Given the description of an element on the screen output the (x, y) to click on. 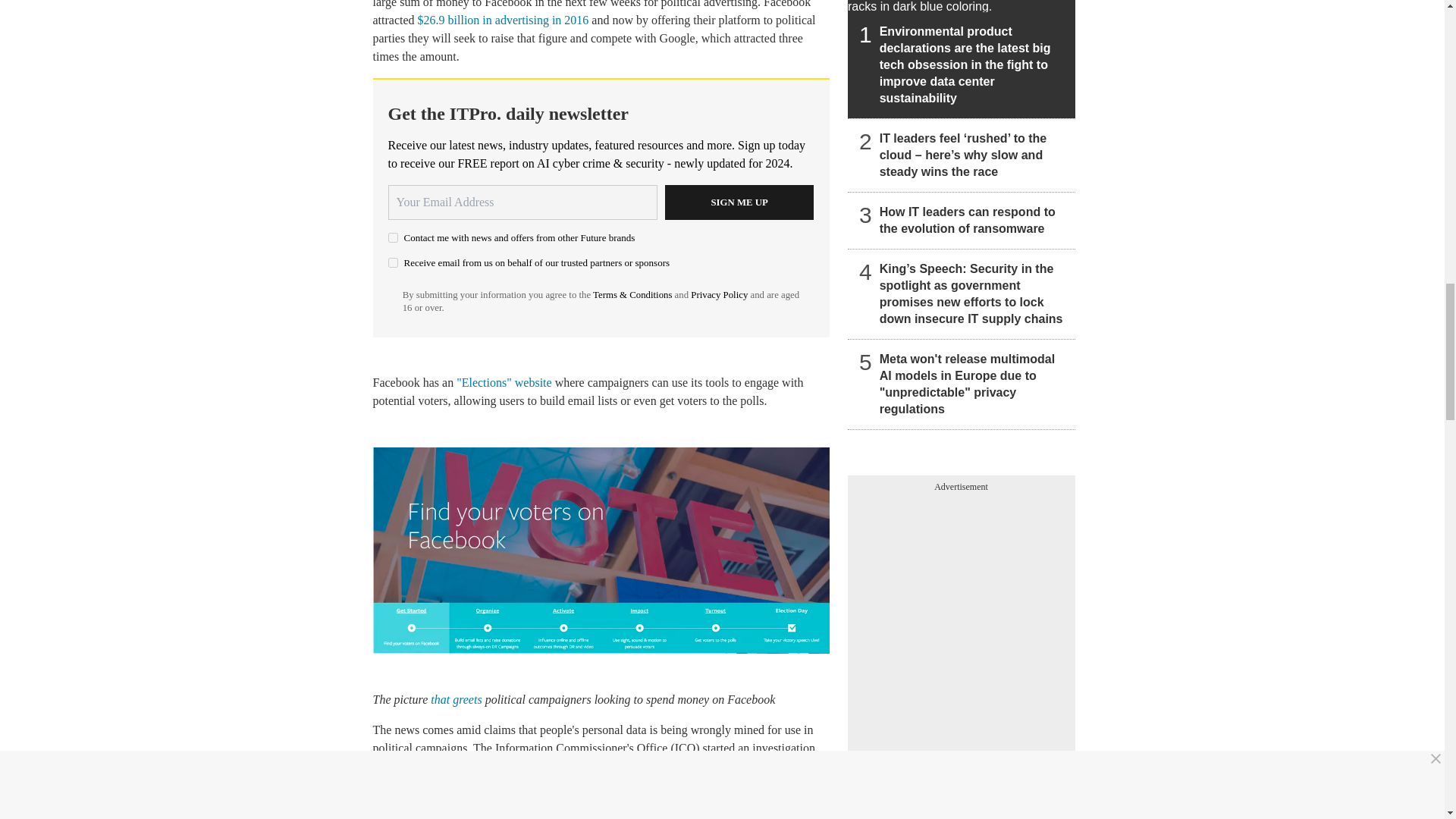
Sign me up (739, 202)
on (392, 237)
on (392, 262)
